Given the description of an element on the screen output the (x, y) to click on. 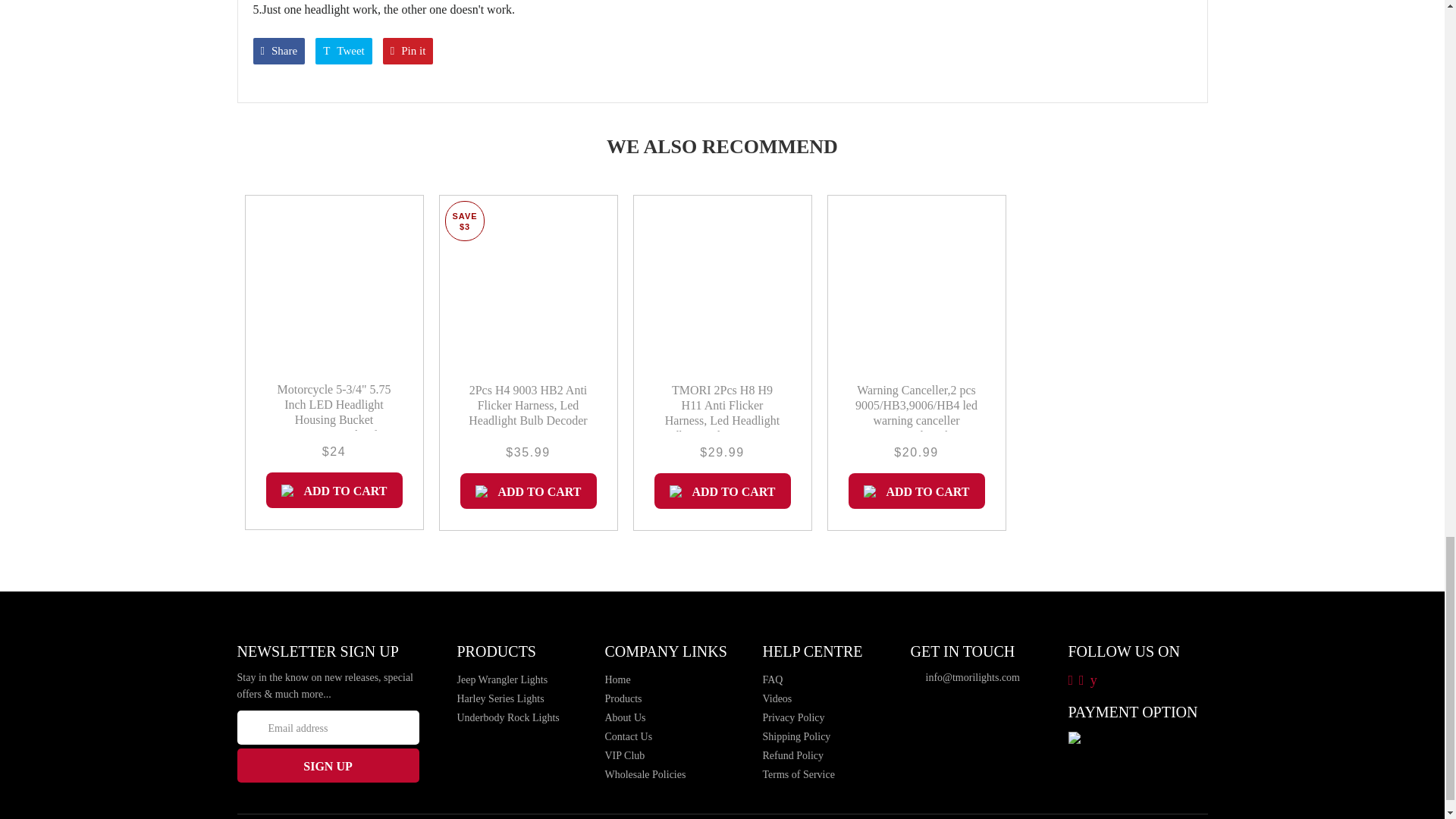
Tweet on Twitter (343, 50)
Share on Facebook (279, 50)
Pin on Pinterest (407, 50)
